Given the description of an element on the screen output the (x, y) to click on. 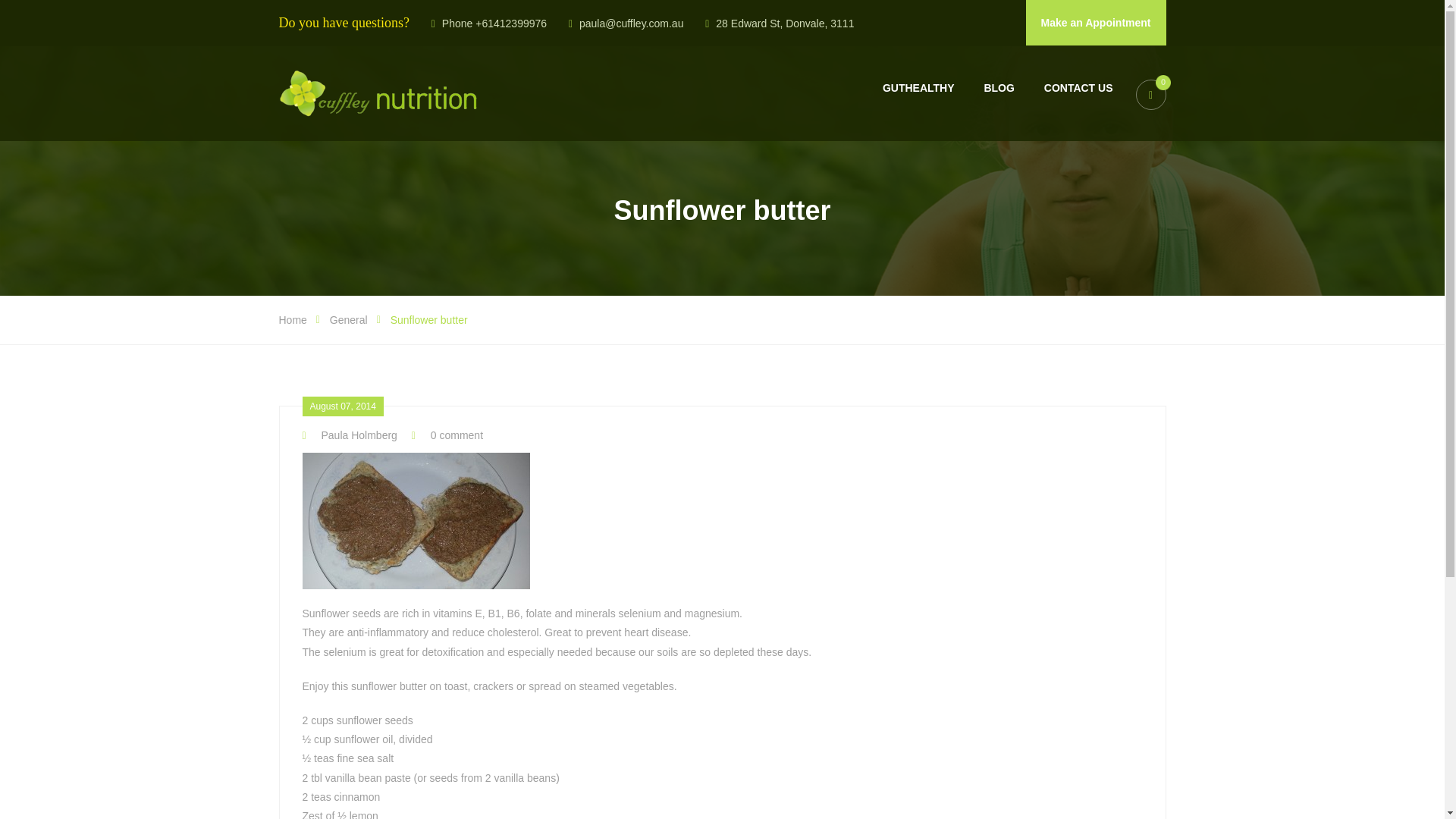
BLOG (998, 87)
Make an Appointment (1096, 22)
GUTHEALTHY (918, 87)
Blog (998, 87)
CONTACT US (1078, 87)
General (349, 319)
Contact Us (1078, 87)
Guthealthy (918, 87)
Paula Holmberg (348, 435)
Home (293, 319)
0 comment (447, 435)
0 (1150, 93)
